Given the description of an element on the screen output the (x, y) to click on. 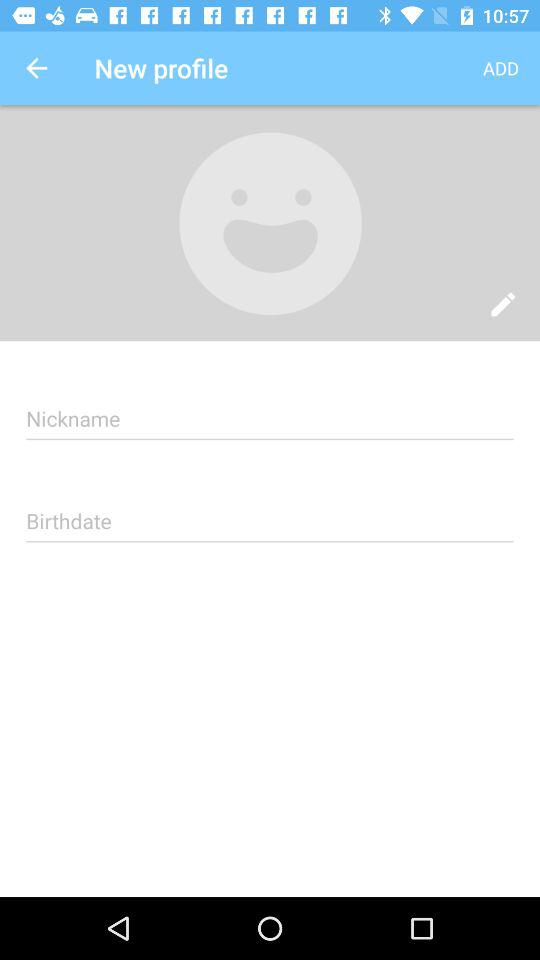
click the app next to the new profile item (36, 68)
